Given the description of an element on the screen output the (x, y) to click on. 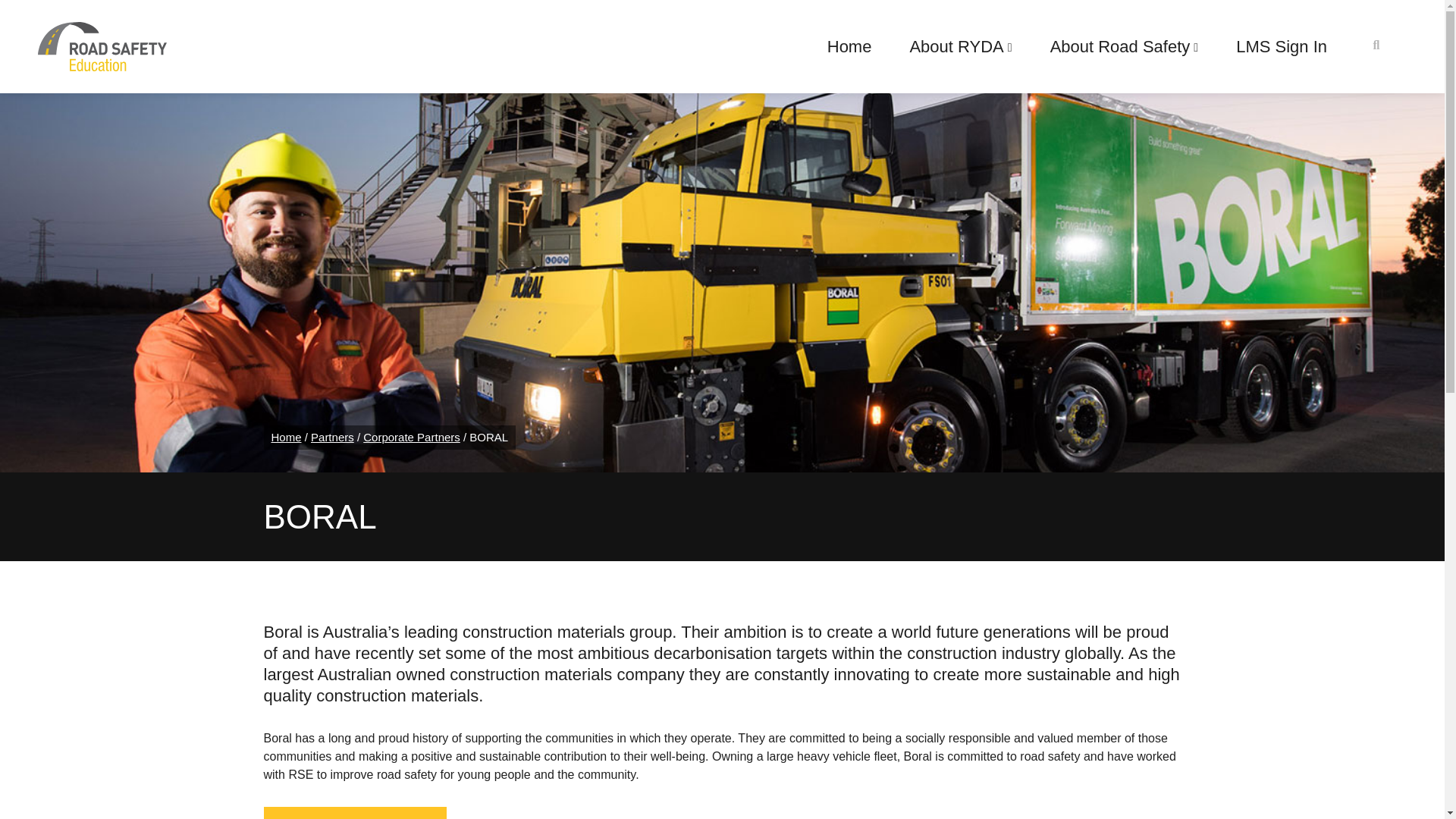
Corporate Partners (411, 436)
About Road Safety (1123, 46)
Partners (332, 436)
VISIT THE BORAL WEBSITE (354, 812)
Search (39, 18)
Home (285, 436)
Road Safety Education (102, 46)
About RYDA (959, 46)
LMS Sign In (1281, 46)
